Given the description of an element on the screen output the (x, y) to click on. 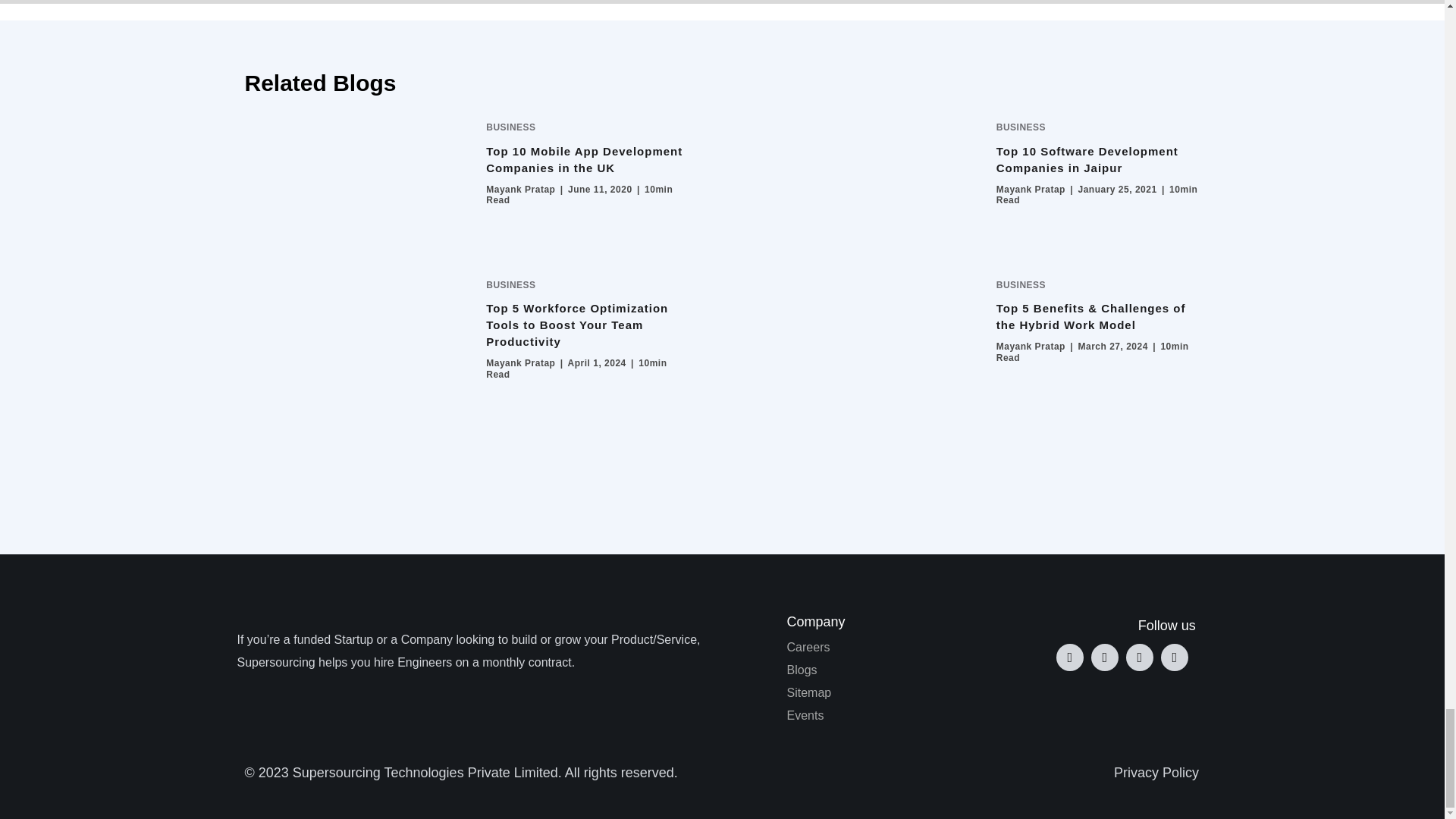
BUSINESS (1020, 127)
Sitemap (896, 692)
Top 10 Software Development Companies in Jaipur (1086, 159)
BUSINESS (510, 285)
BUSINESS (1020, 285)
Top 10 Mobile App Development Companies in the UK (584, 159)
Careers (896, 647)
BUSINESS (510, 127)
Blogs (896, 670)
